Given the description of an element on the screen output the (x, y) to click on. 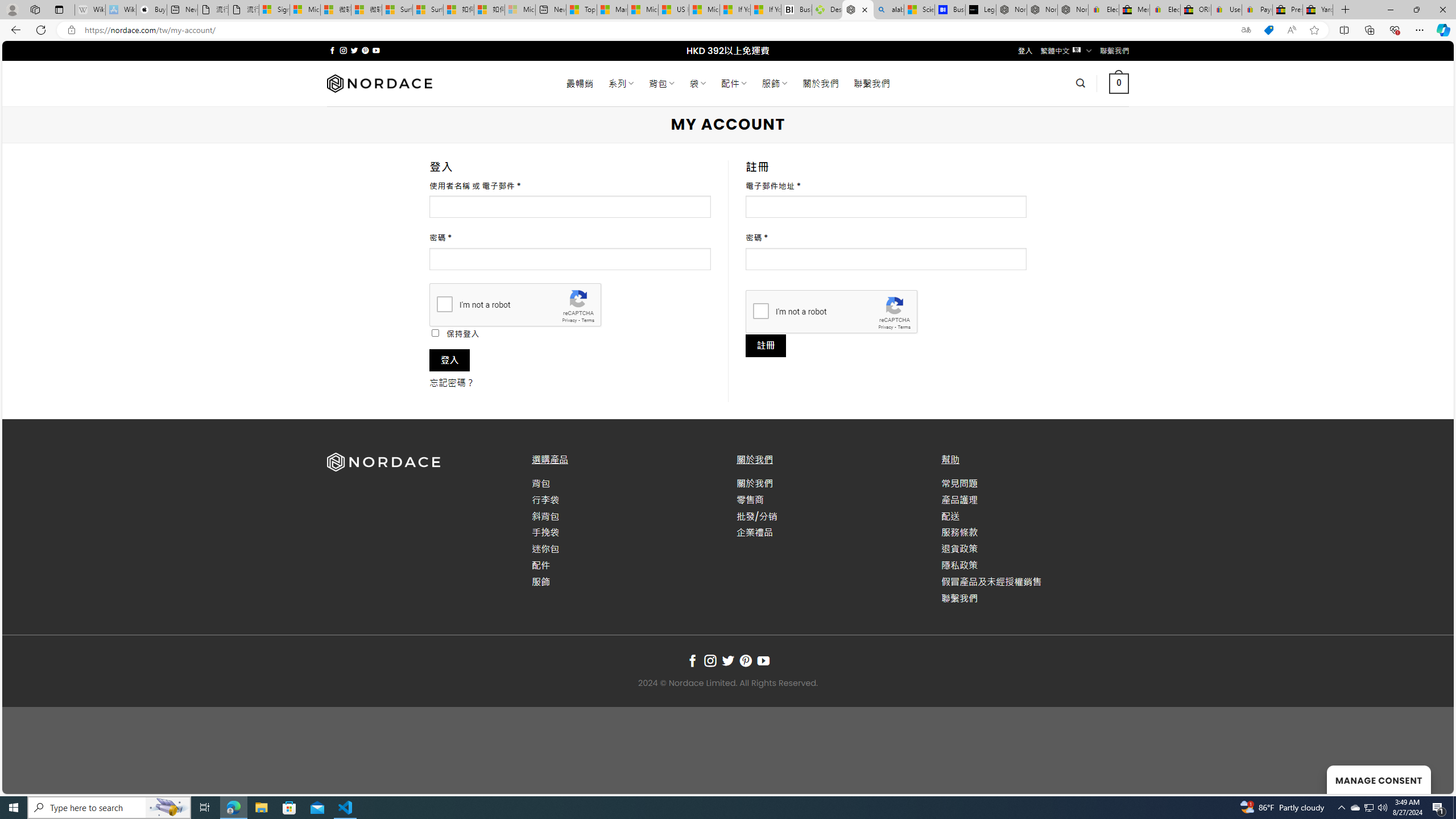
Go to top (1430, 777)
Follow on YouTube (763, 660)
